Given the description of an element on the screen output the (x, y) to click on. 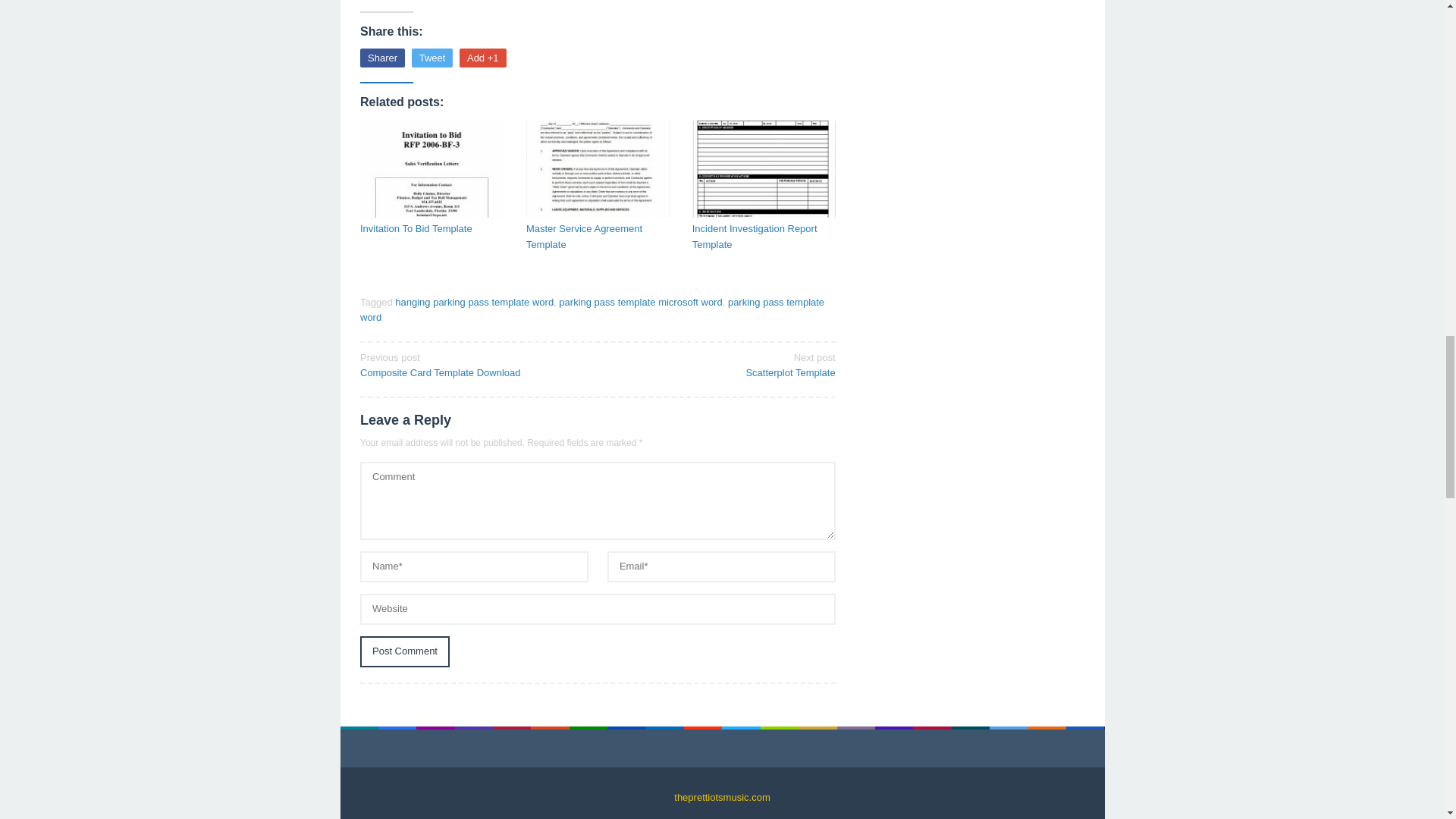
Master Service Agreement Template (597, 237)
Tweet (432, 57)
Invitation To Bid Template (431, 229)
Incident Investigation Report Template (721, 364)
Post Comment (764, 237)
parking pass template microsoft word (404, 651)
parking pass template word (640, 301)
hanging parking pass template word (473, 364)
